Given the description of an element on the screen output the (x, y) to click on. 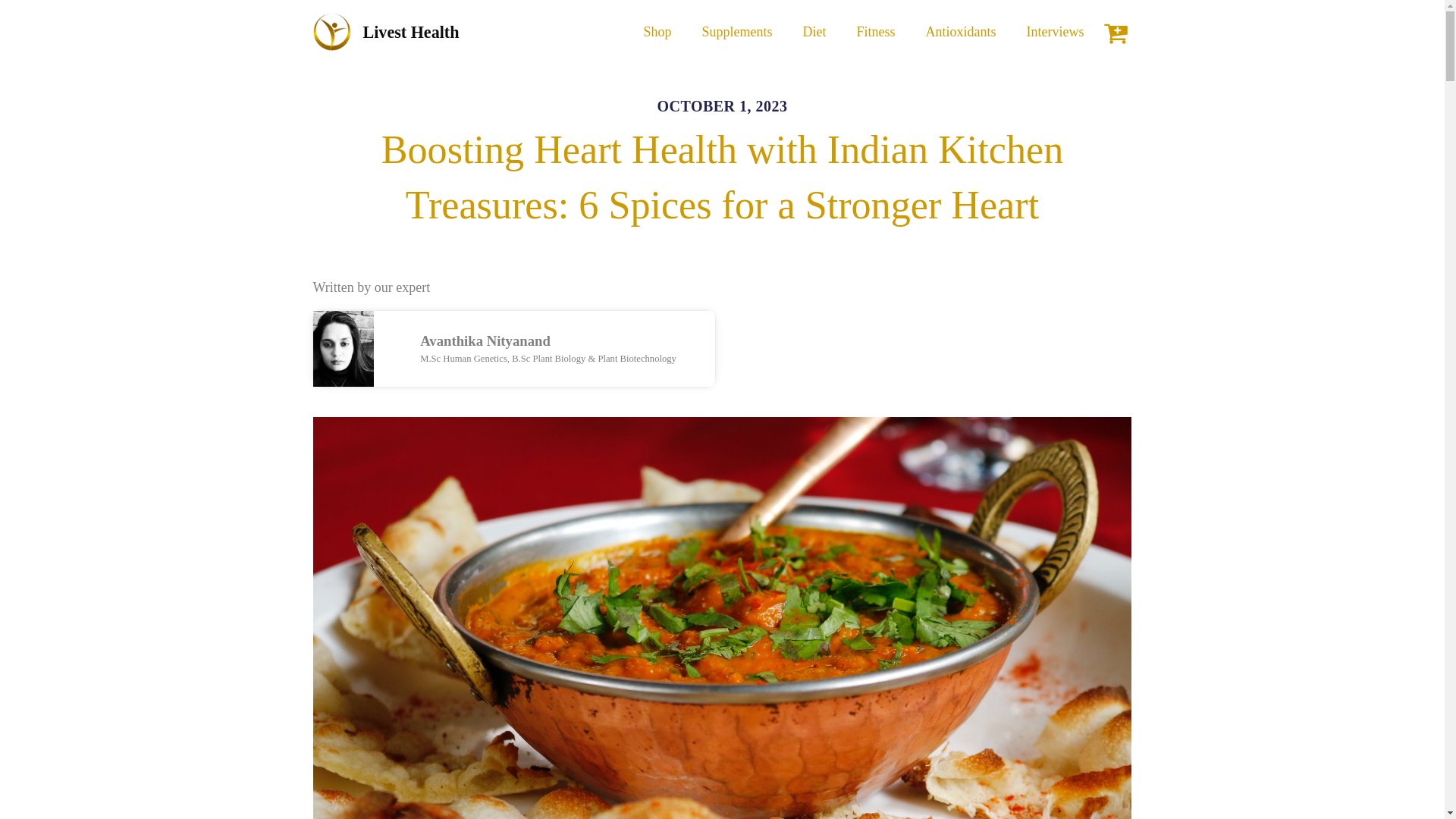
Livest Health (385, 32)
Shop (656, 31)
Supplements (737, 31)
Fitness (876, 31)
Interviews (1055, 31)
Antioxidants (961, 31)
Diet (814, 31)
